Given the description of an element on the screen output the (x, y) to click on. 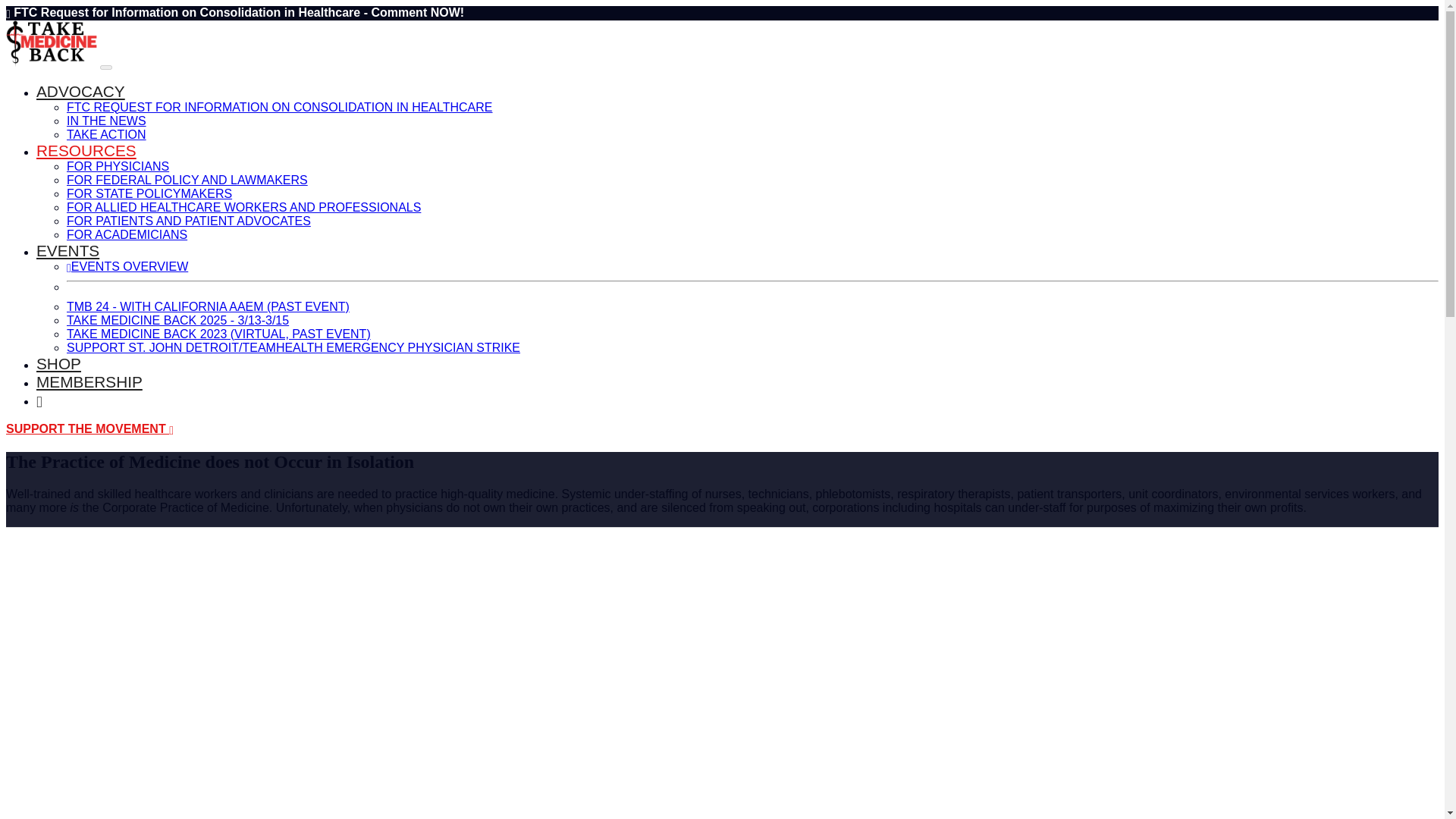
SUPPORT THE MOVEMENT (89, 428)
FOR PATIENTS AND PATIENT ADVOCATES (188, 220)
FOR PHYSICIANS (117, 165)
RESOURCES (86, 149)
EVENTS (67, 250)
FOR FEDERAL POLICY AND LAWMAKERS (186, 179)
FOR ACADEMICIANS (126, 234)
FOR ALLIED HEALTHCARE WORKERS AND PROFESSIONALS (243, 206)
FTC REQUEST FOR INFORMATION ON CONSOLIDATION IN HEALTHCARE (279, 106)
